Given the description of an element on the screen output the (x, y) to click on. 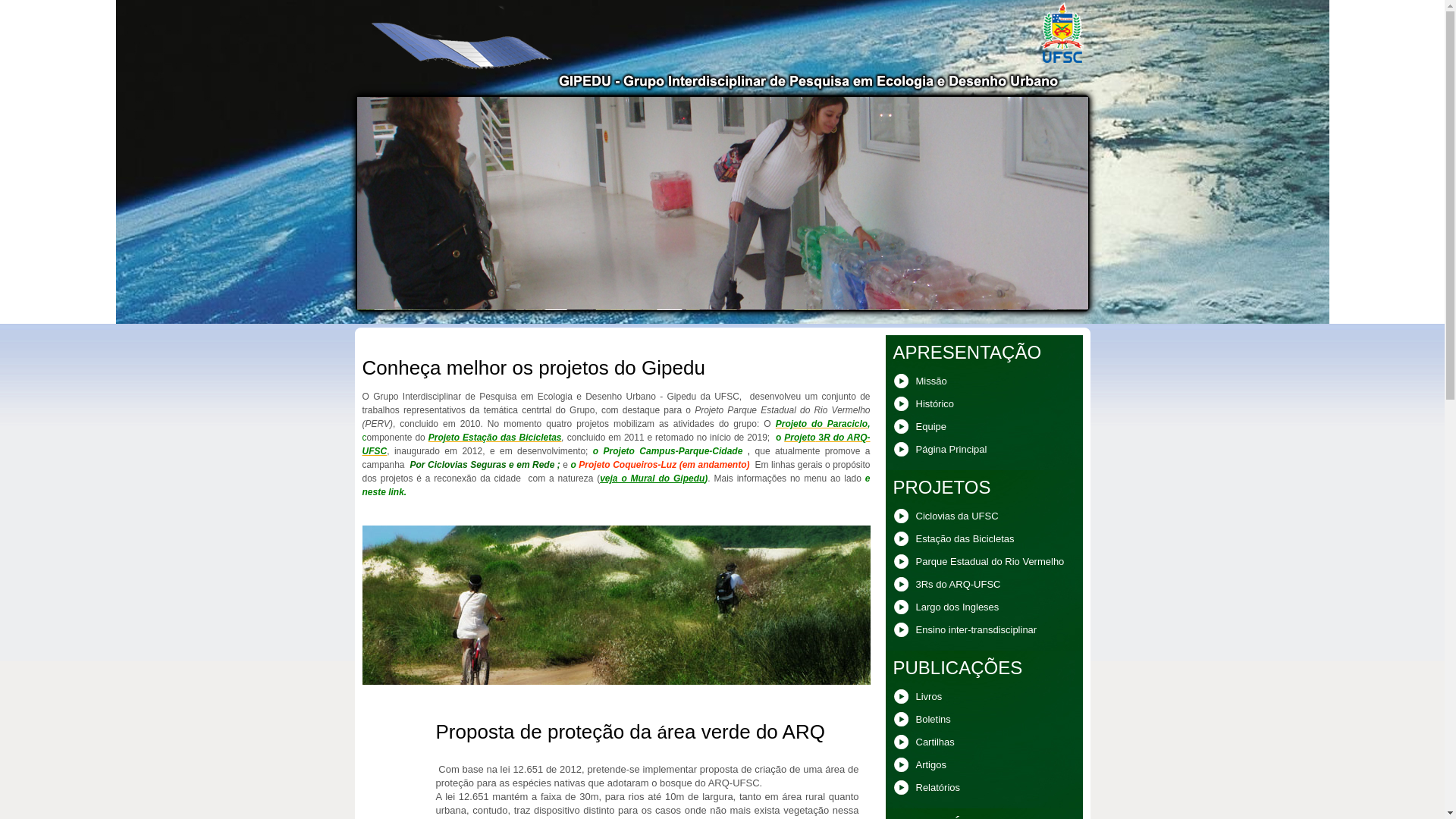
e neste link. Element type: text (616, 485)
3Rs do ARQ-UFSC Element type: text (984, 585)
Projeto Coqueiros-Luz (em andamento) Element type: text (663, 464)
Por Ciclovias Seguras e em Rede ; Element type: text (483, 464)
Ciclovias da UFSC Element type: text (984, 517)
Cartilhas Element type: text (984, 743)
Livros Element type: text (984, 698)
veja o Mural do Gipedu Element type: text (651, 478)
Projeto Campus-Parque-Cidade Element type: text (670, 450)
Equipe Element type: text (984, 428)
Ensino inter-transdisciplinar Element type: text (984, 631)
Artigos Element type: text (984, 766)
Largo dos Ingleses Element type: text (984, 608)
Projeto do Paraciclo Element type: text (821, 423)
Parque Estadual do Rio Vermelho Element type: text (984, 563)
  Element type: text (744, 450)
Boletins Element type: text (984, 720)
Projeto 3R do ARQ-UFSC Element type: text (616, 444)
